Given the description of an element on the screen output the (x, y) to click on. 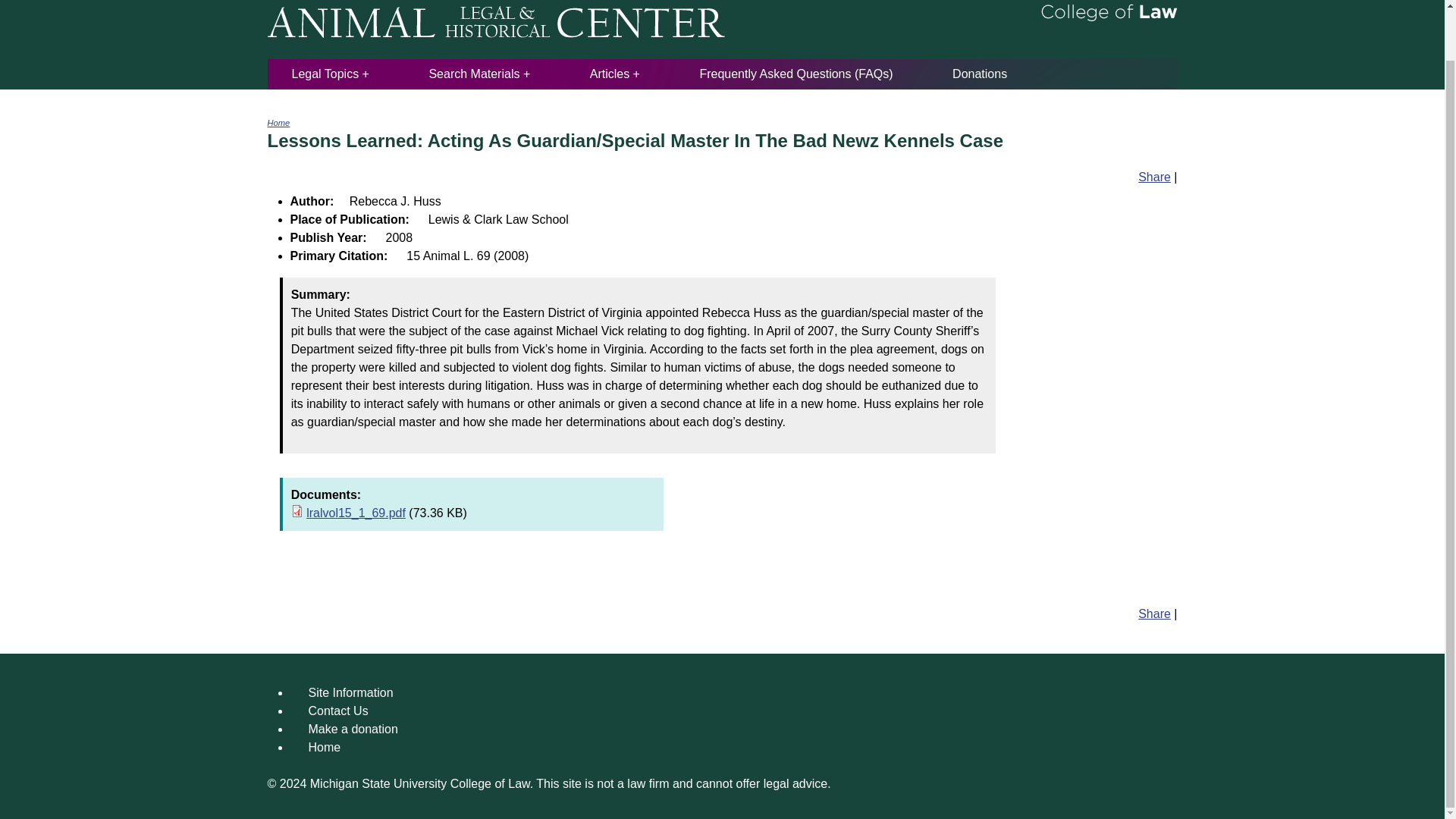
Search Materials (479, 73)
Legal Topics (330, 73)
Site Information (349, 692)
Contact Us (337, 710)
Home (323, 747)
Share (1154, 613)
Share (1154, 176)
Donations (979, 73)
Home (277, 122)
Make a donation (351, 728)
